Given the description of an element on the screen output the (x, y) to click on. 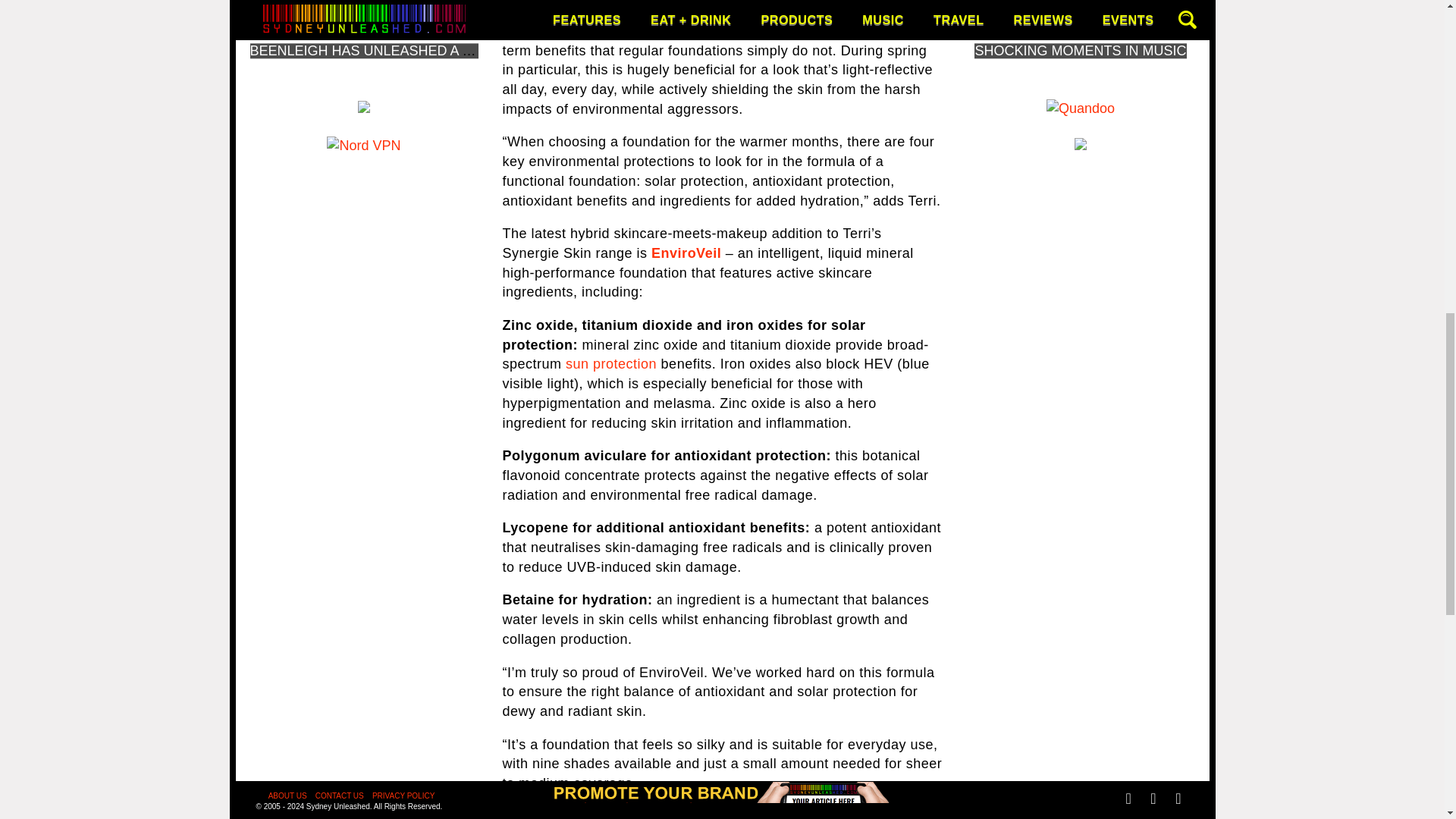
sun protection (611, 363)
EnviroVeil (685, 253)
